Given the description of an element on the screen output the (x, y) to click on. 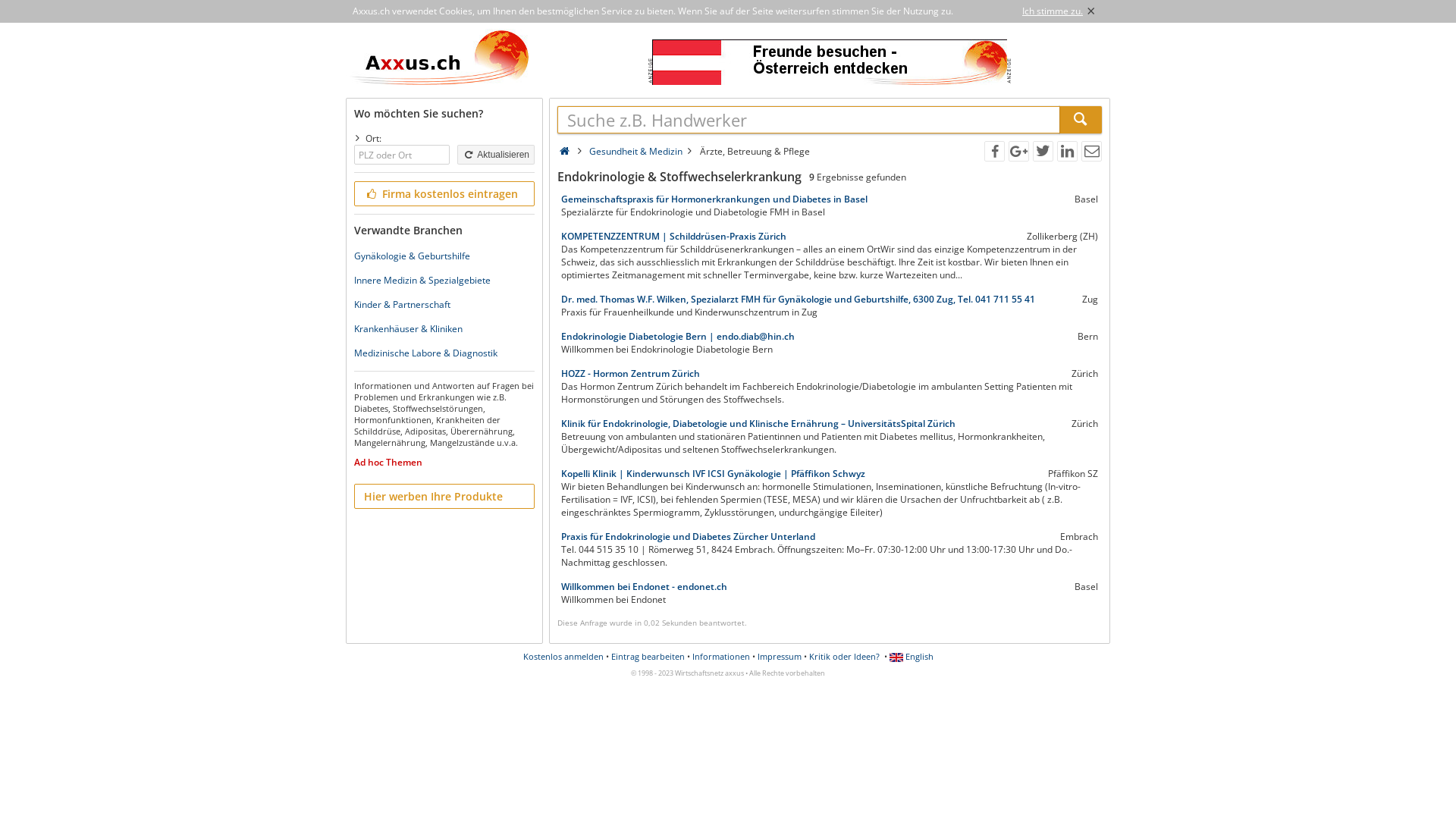
Endokrinologie Diabetologie Bern | endo.diab@hin.ch Element type: text (804, 335)
Eintrag bearbeiten Element type: text (647, 656)
English Element type: text (910, 656)
Aktualisieren Element type: text (495, 154)
Willkommen bei Endonet - endonet.ch Element type: text (791, 586)
Firma kostenlos eintragen Element type: text (444, 193)
Kritik oder Ideen? Element type: text (843, 656)
Gesundheit & Medizin Element type: text (635, 150)
Informationen Element type: text (720, 656)
Innere Medizin & Spezialgebiete Element type: text (422, 279)
Kostenlos anmelden Element type: text (563, 656)
Kinder & Partnerschaft Element type: text (402, 304)
Hier werben Ihre Produkte Element type: text (444, 495)
Impressum Element type: text (778, 656)
Medizinische Labore & Diagnostik Element type: text (425, 352)
